Given the description of an element on the screen output the (x, y) to click on. 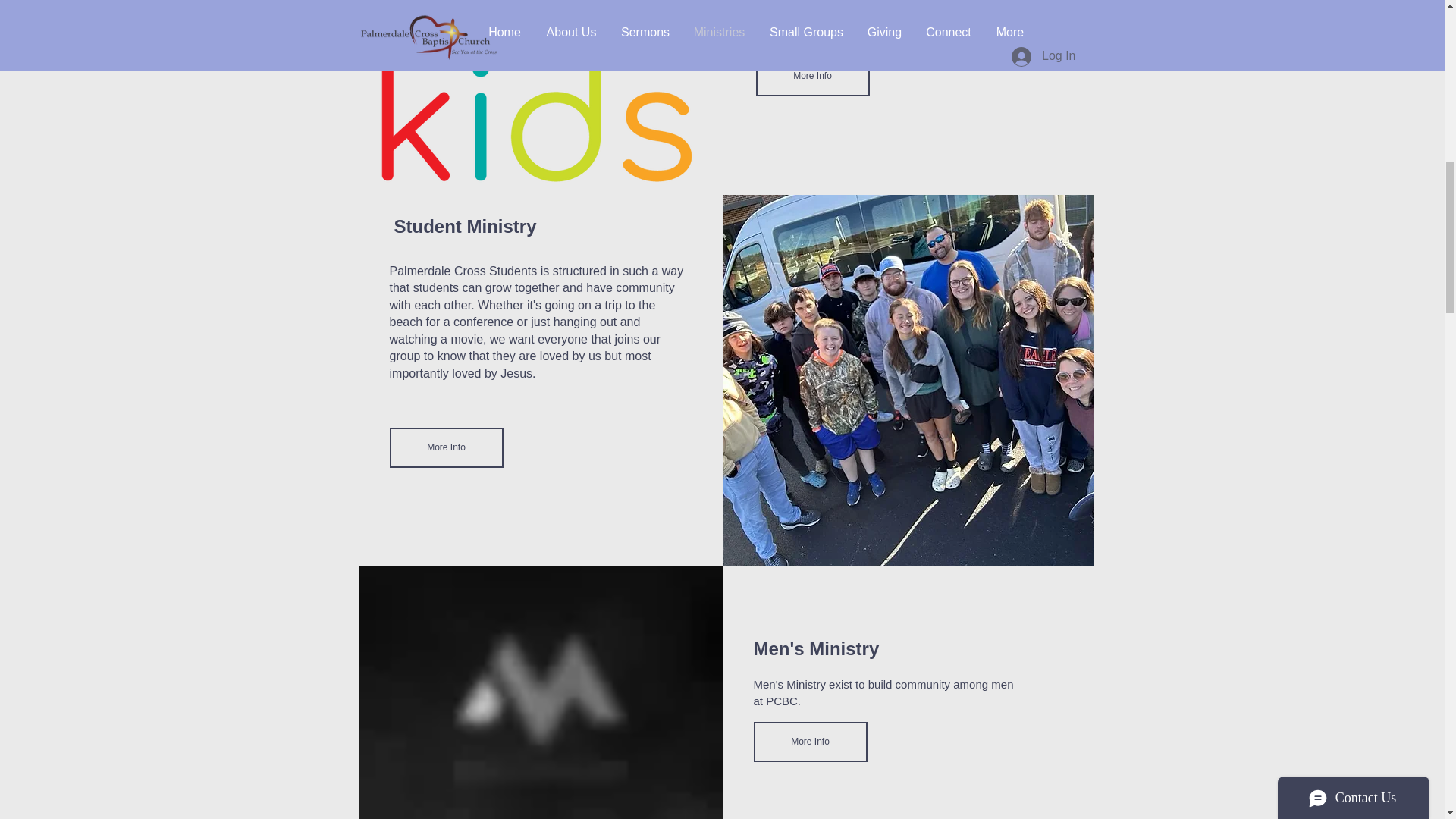
More Info (810, 741)
More Info (812, 76)
GettyImages-576798533-edit.jpg (540, 692)
More Info (446, 447)
